Given the description of an element on the screen output the (x, y) to click on. 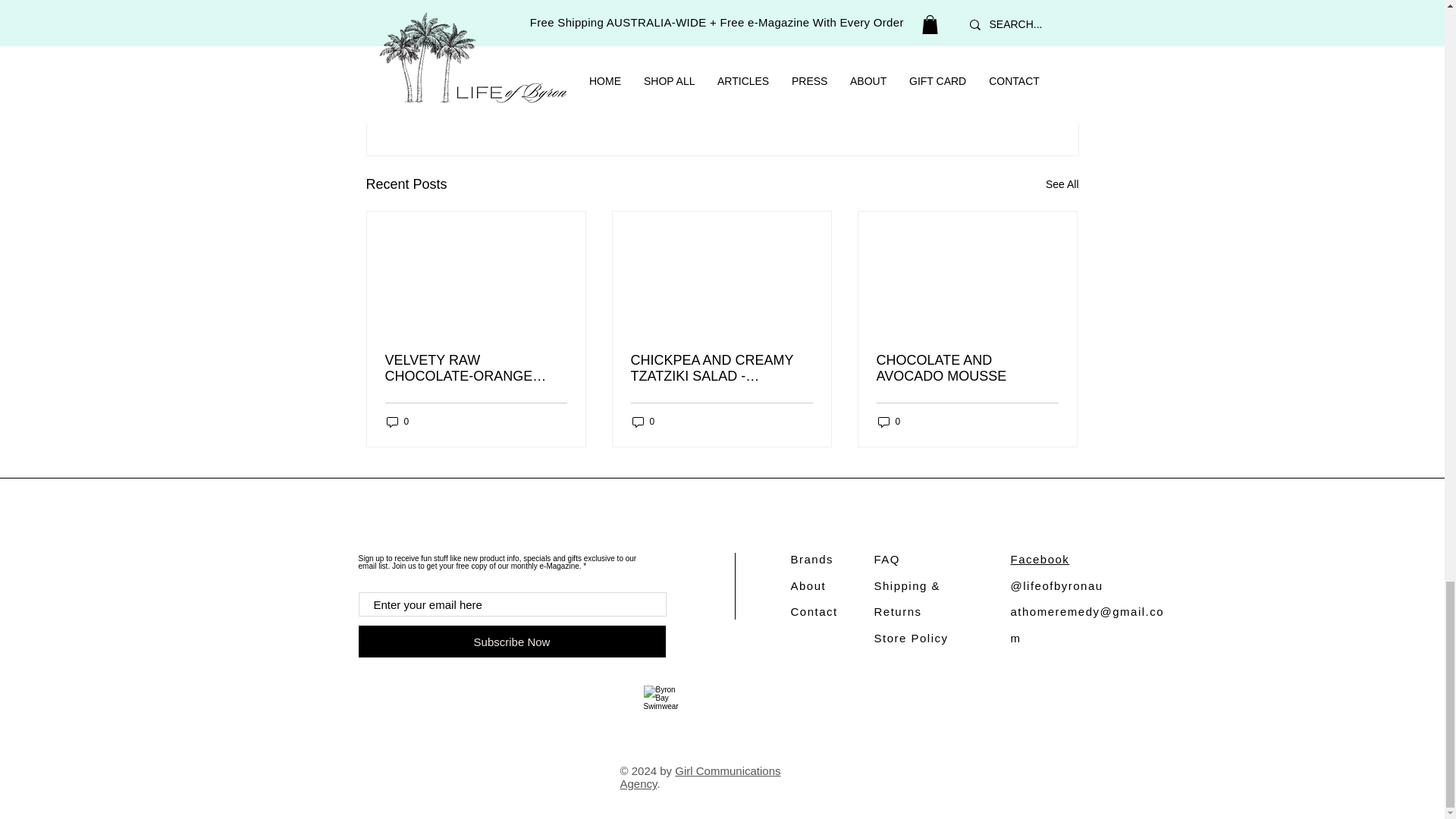
VELVETY RAW CHOCOLATE-ORANGE TORTE (476, 368)
0 (889, 421)
CHOCOLATE AND AVOCADO MOUSSE (967, 368)
0 (397, 421)
See All (1061, 184)
0 (643, 421)
